Given the description of an element on the screen output the (x, y) to click on. 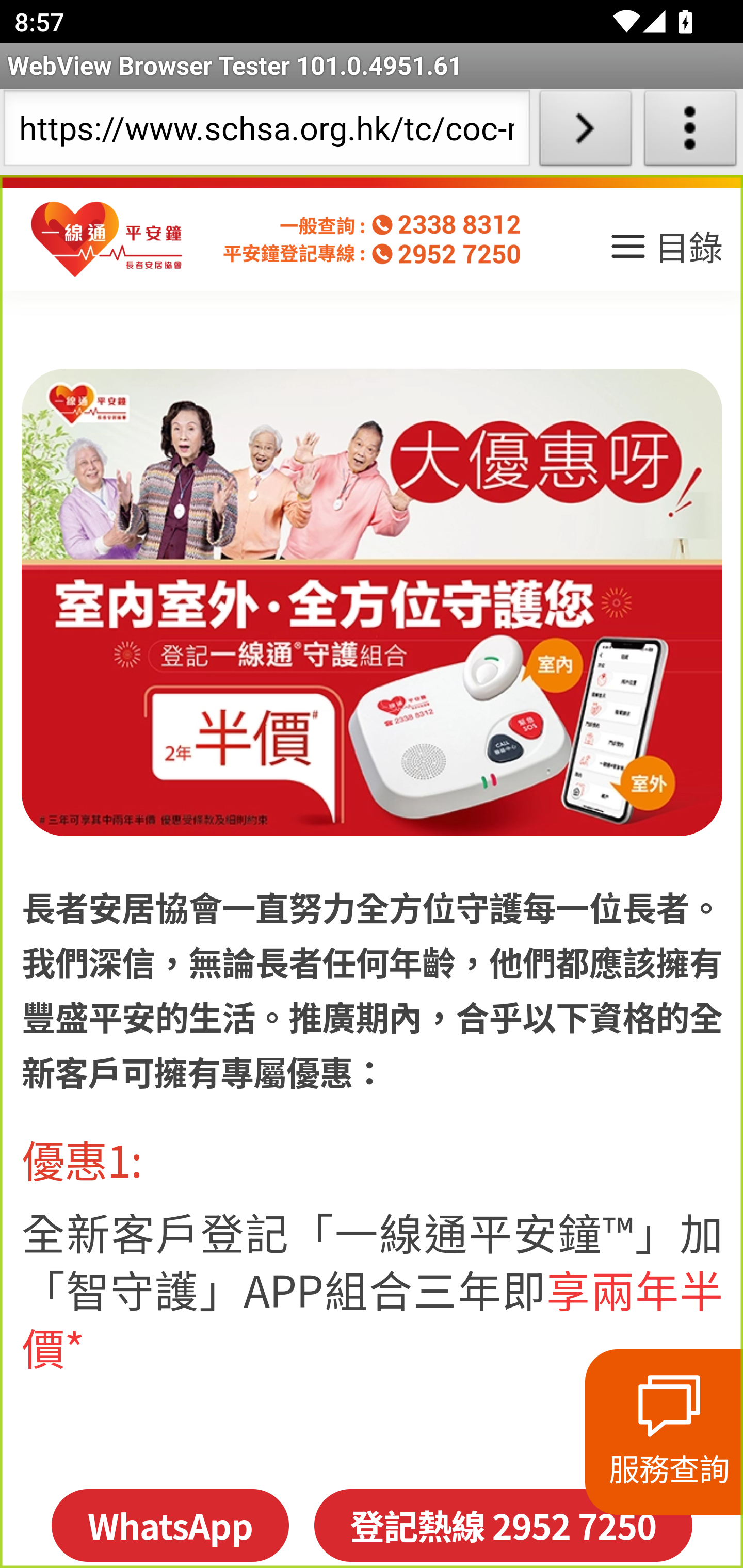
Load URL (585, 132)
About WebView (690, 132)
homepage (107, 240)
目錄 (665, 252)
服務查詢 (664, 1432)
WhatsApp (169, 1525)
登記熱線 2952 7250 (502, 1525)
